Given the description of an element on the screen output the (x, y) to click on. 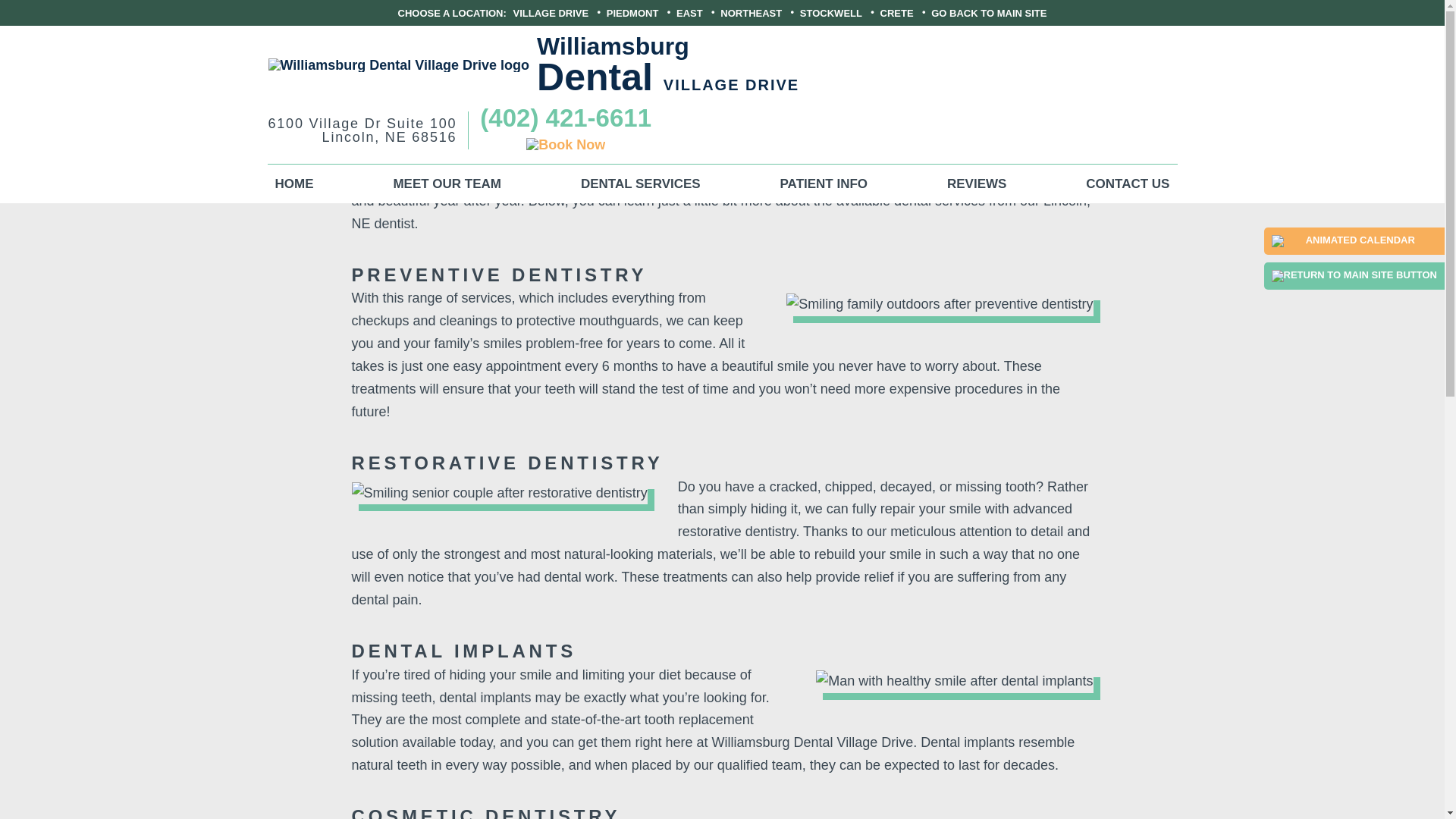
Meet Our Village Drive Dental Team (446, 183)
REVIEWS (976, 183)
GO BACK TO MAIN SITE (988, 13)
Dentist Village Drive Lincoln, NE (293, 183)
STOCKWELL (830, 13)
Our team (1045, 155)
Contact Us Village Drive (365, 130)
Village Drive Dentist Reviews (1127, 183)
Village Drive Dental Services (976, 183)
